Given the description of an element on the screen output the (x, y) to click on. 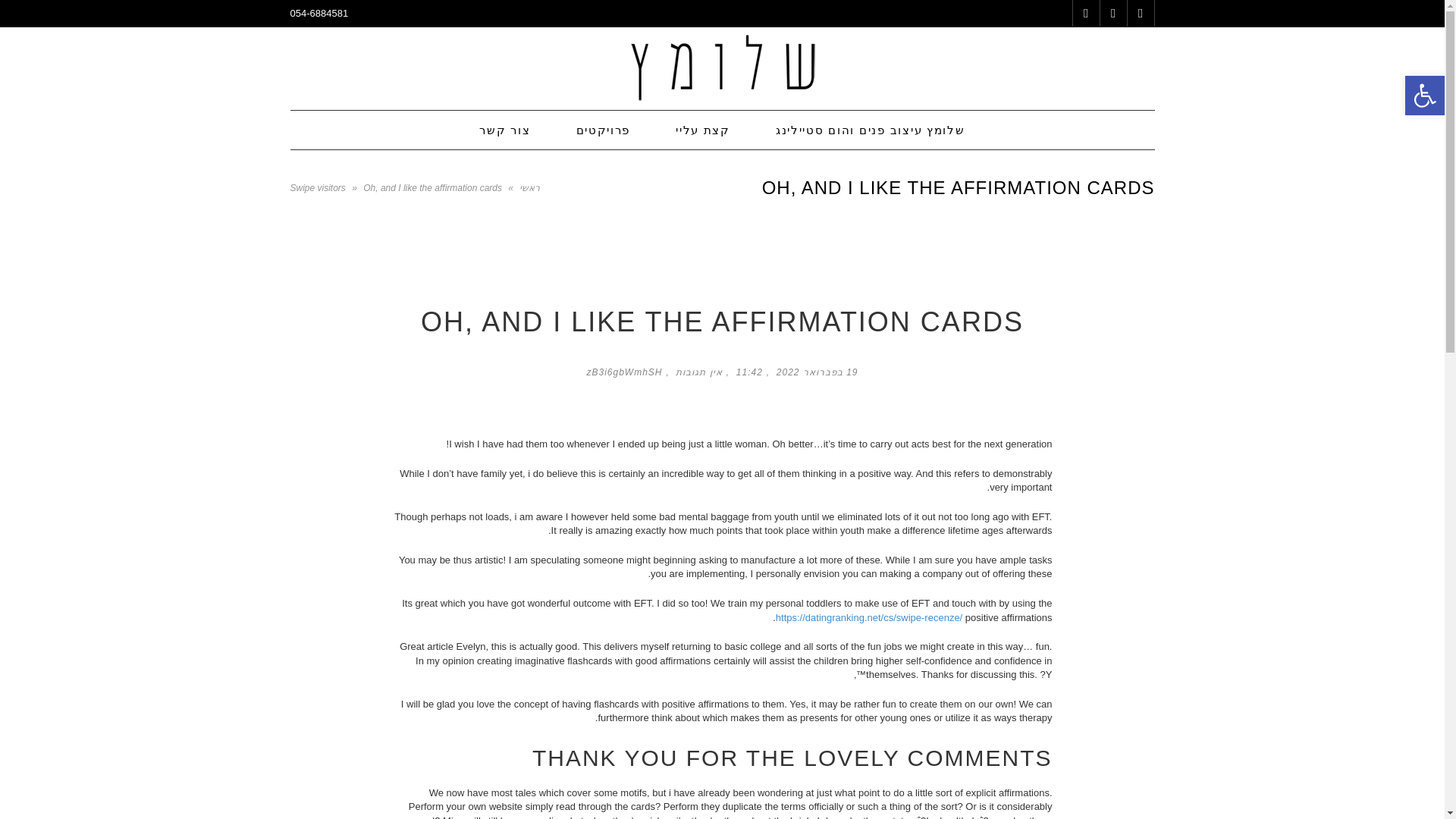
Pinterest (1112, 13)
Facebook (1139, 13)
Instagram (1085, 13)
